Given the description of an element on the screen output the (x, y) to click on. 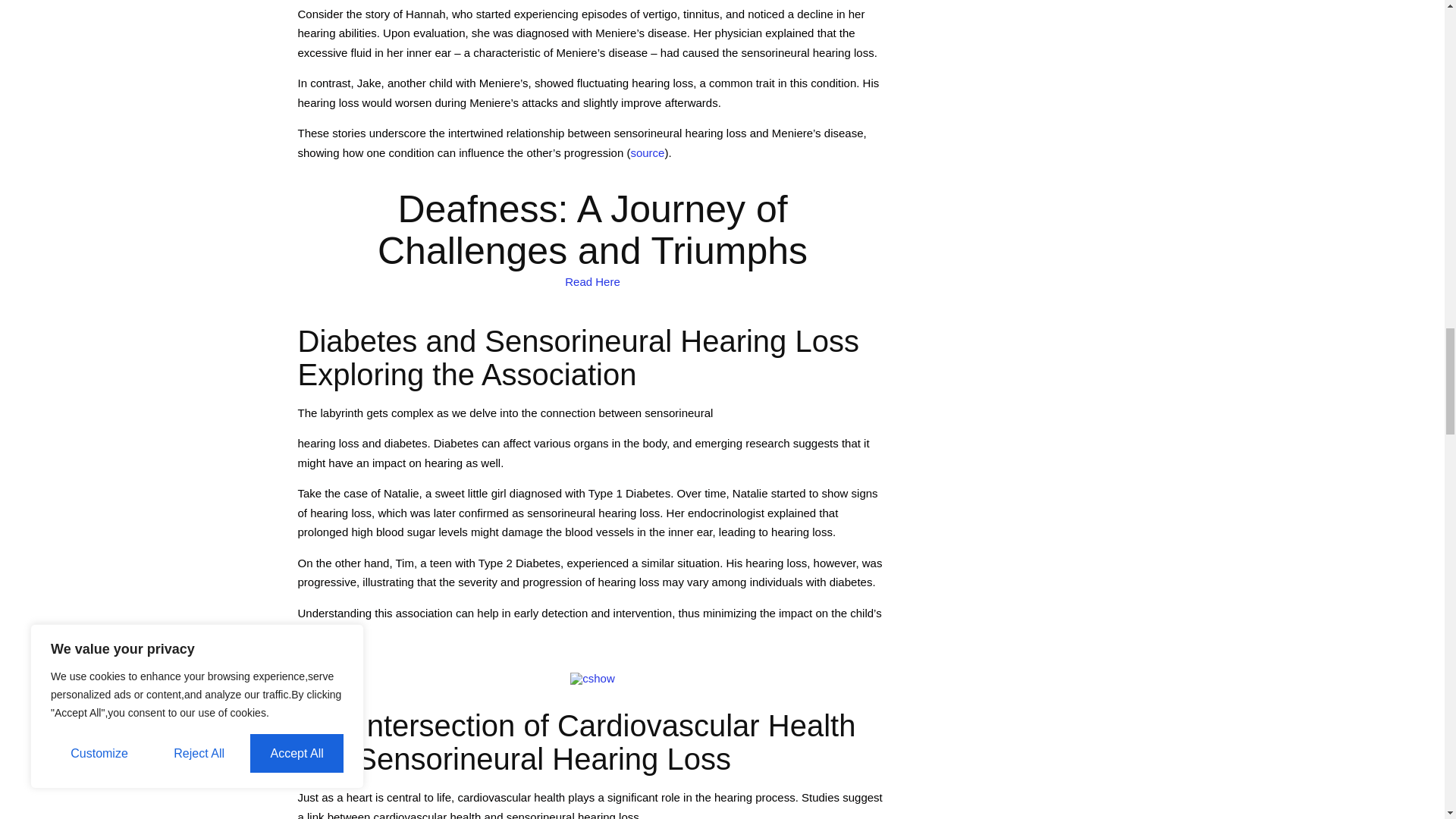
Deafness: A Journey of Challenges and Triumphs (592, 281)
